Given the description of an element on the screen output the (x, y) to click on. 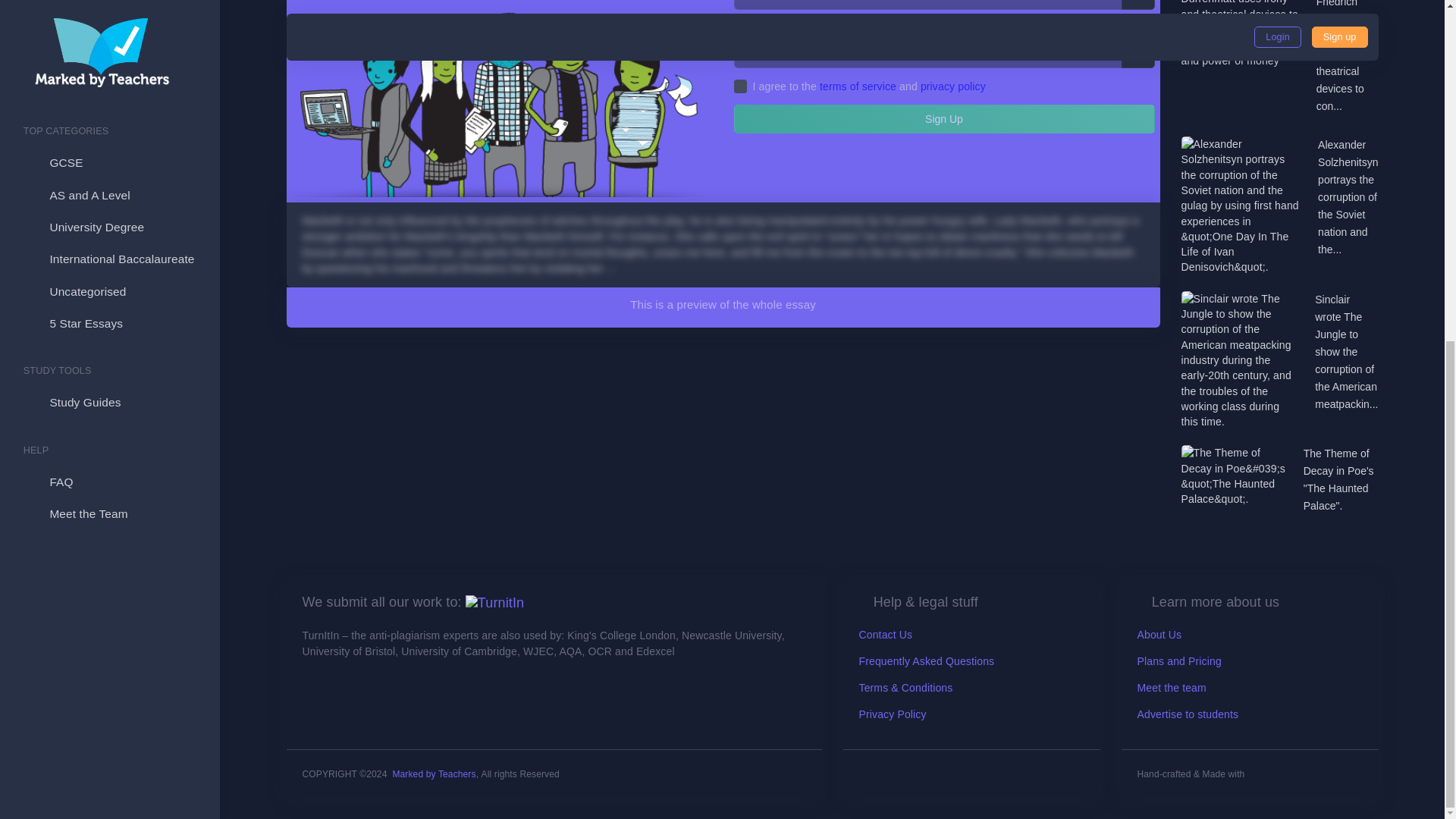
terms of service (857, 86)
Marked by Teachers (433, 774)
Plans and Pricing (1179, 661)
Frequently Asked Questions (926, 661)
About Us (1159, 634)
Contact Us (885, 634)
Privacy Policy (892, 714)
Meet the team (1172, 687)
privacy policy (952, 86)
The Theme of Decay in Poe's "The Haunted Palace". (1340, 480)
